Given the description of an element on the screen output the (x, y) to click on. 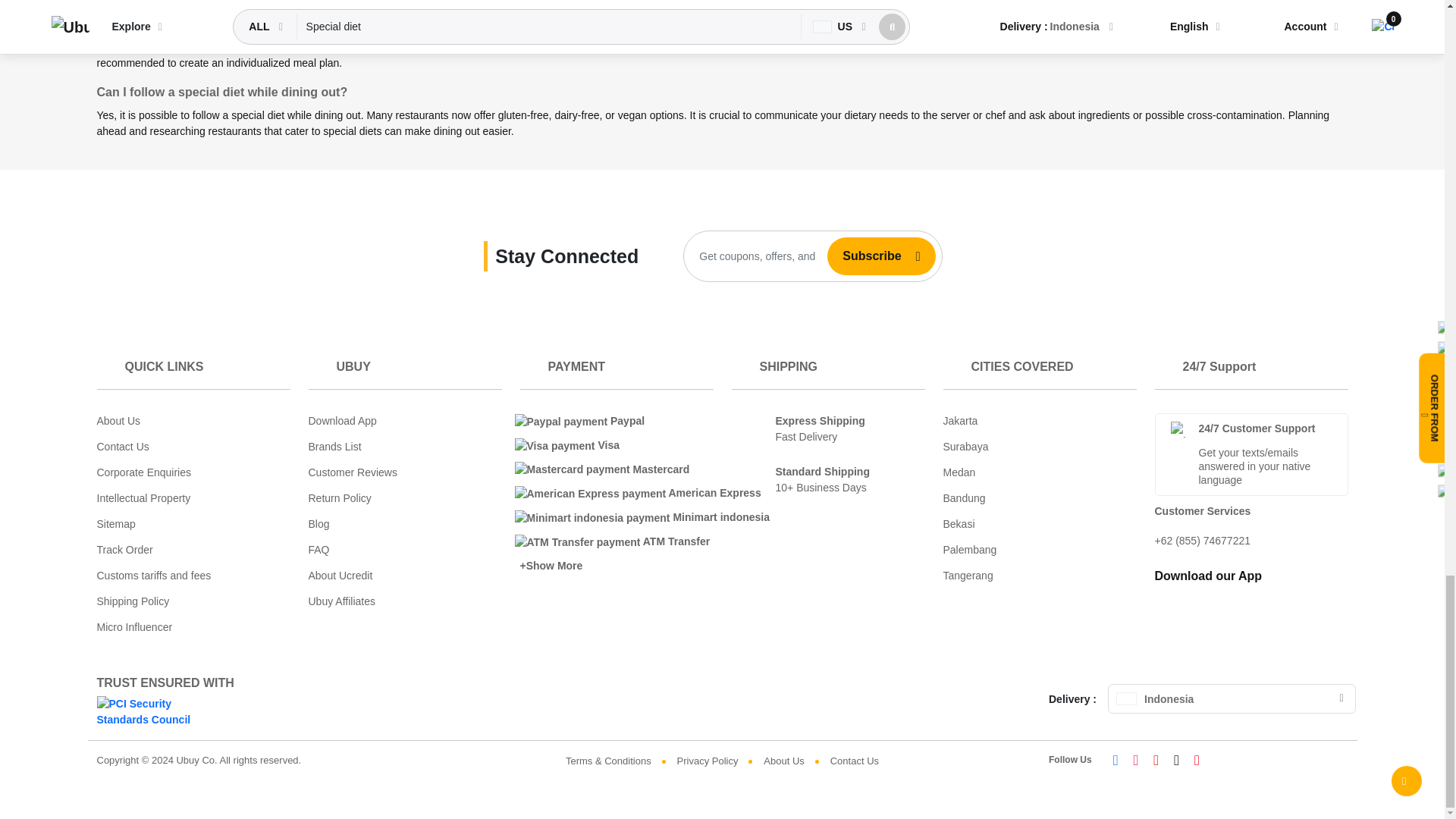
Subscribe (865, 255)
